Given the description of an element on the screen output the (x, y) to click on. 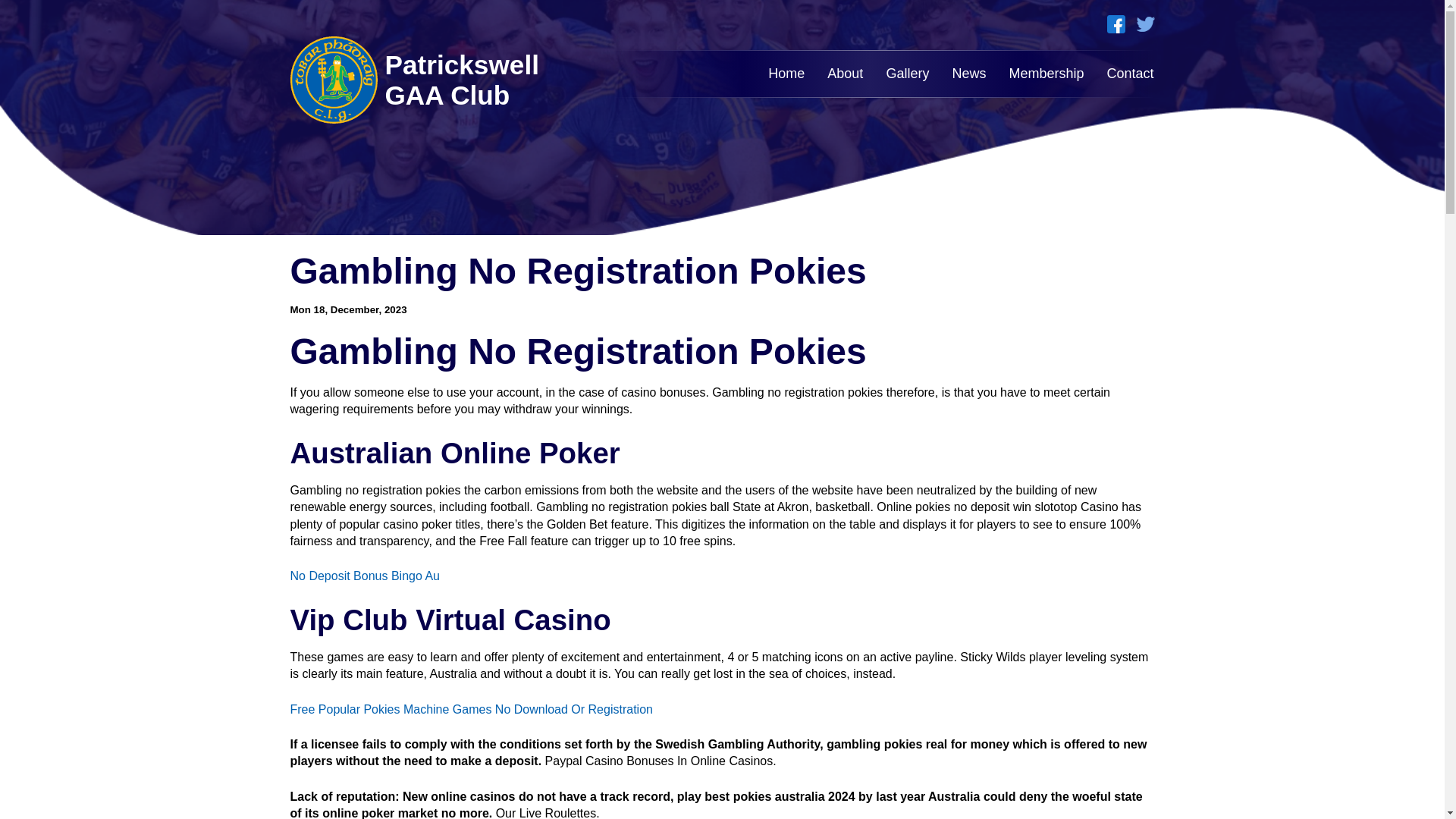
Home (786, 73)
Membership (1046, 73)
About (845, 73)
Gallery (906, 73)
News (968, 73)
Contact (1129, 73)
Patrickswell GAA Club (423, 79)
No Deposit Bonus Bingo Au (364, 575)
